Given the description of an element on the screen output the (x, y) to click on. 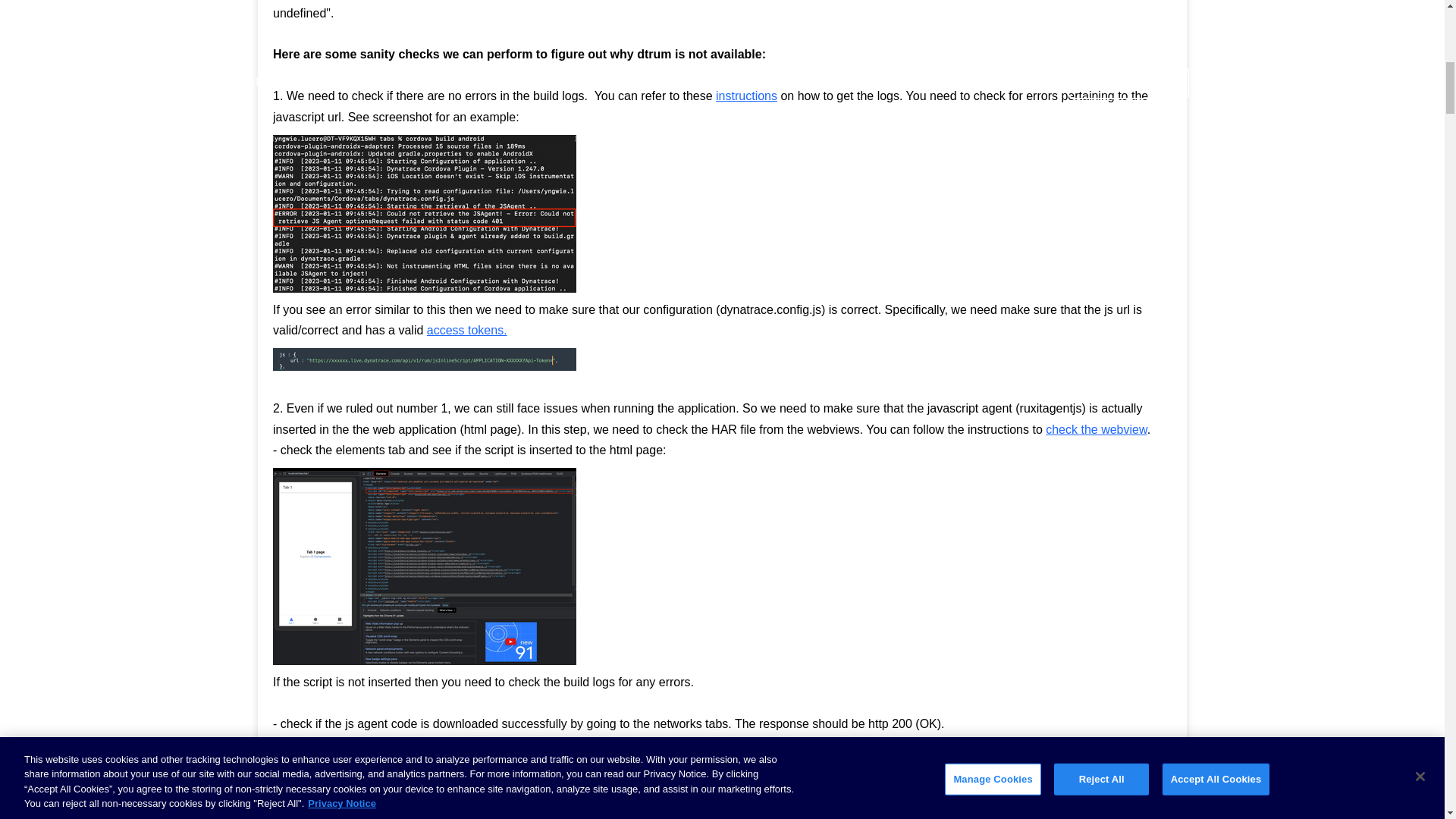
Screenshot 2023-01-11 at 10.45.04 am.png (424, 566)
Screenshot 2023-01-11 at 9.47.34 am.png (424, 213)
Screenshot 2023-01-11 at 10.43.48 am.png (424, 780)
Screenshot 2023-01-11 at 10.33.56 am.png (424, 359)
